Given the description of an element on the screen output the (x, y) to click on. 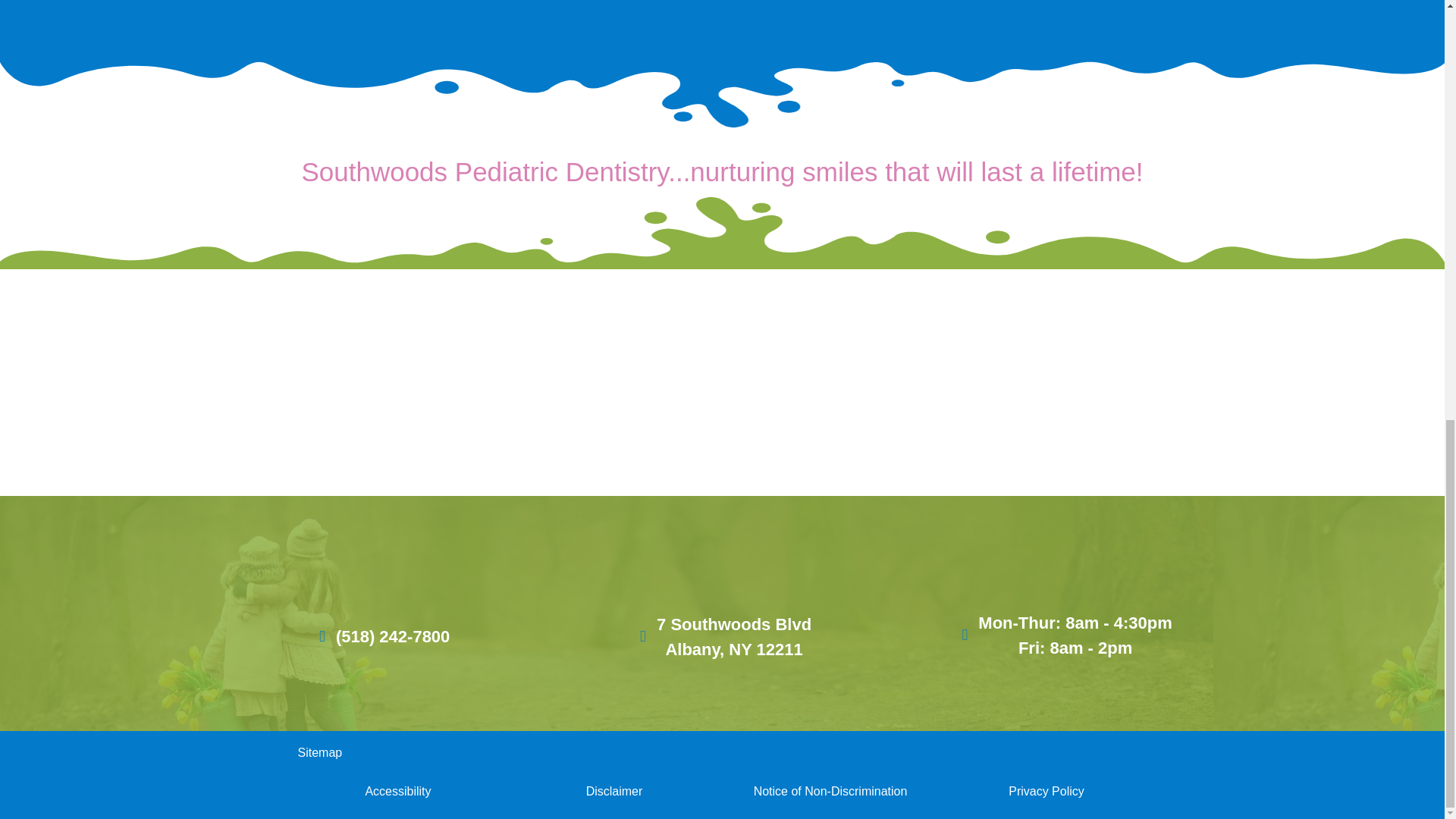
Accessibility (397, 790)
Notice of Non-Discrimination (830, 790)
Privacy Policy (1046, 790)
Disclaimer (722, 636)
Sitemap (614, 790)
